Given the description of an element on the screen output the (x, y) to click on. 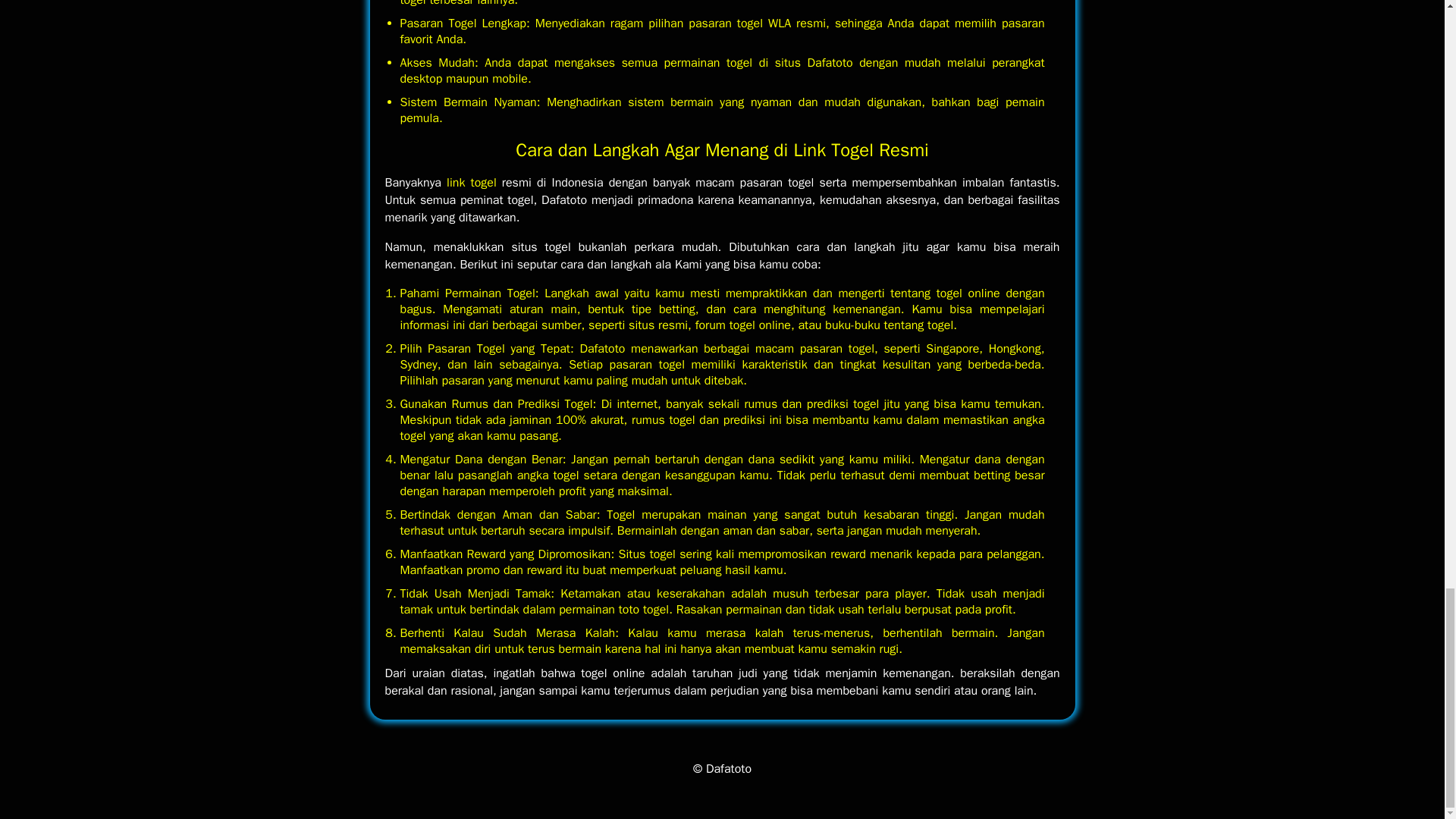
link togel (471, 182)
link togel (471, 182)
